Given the description of an element on the screen output the (x, y) to click on. 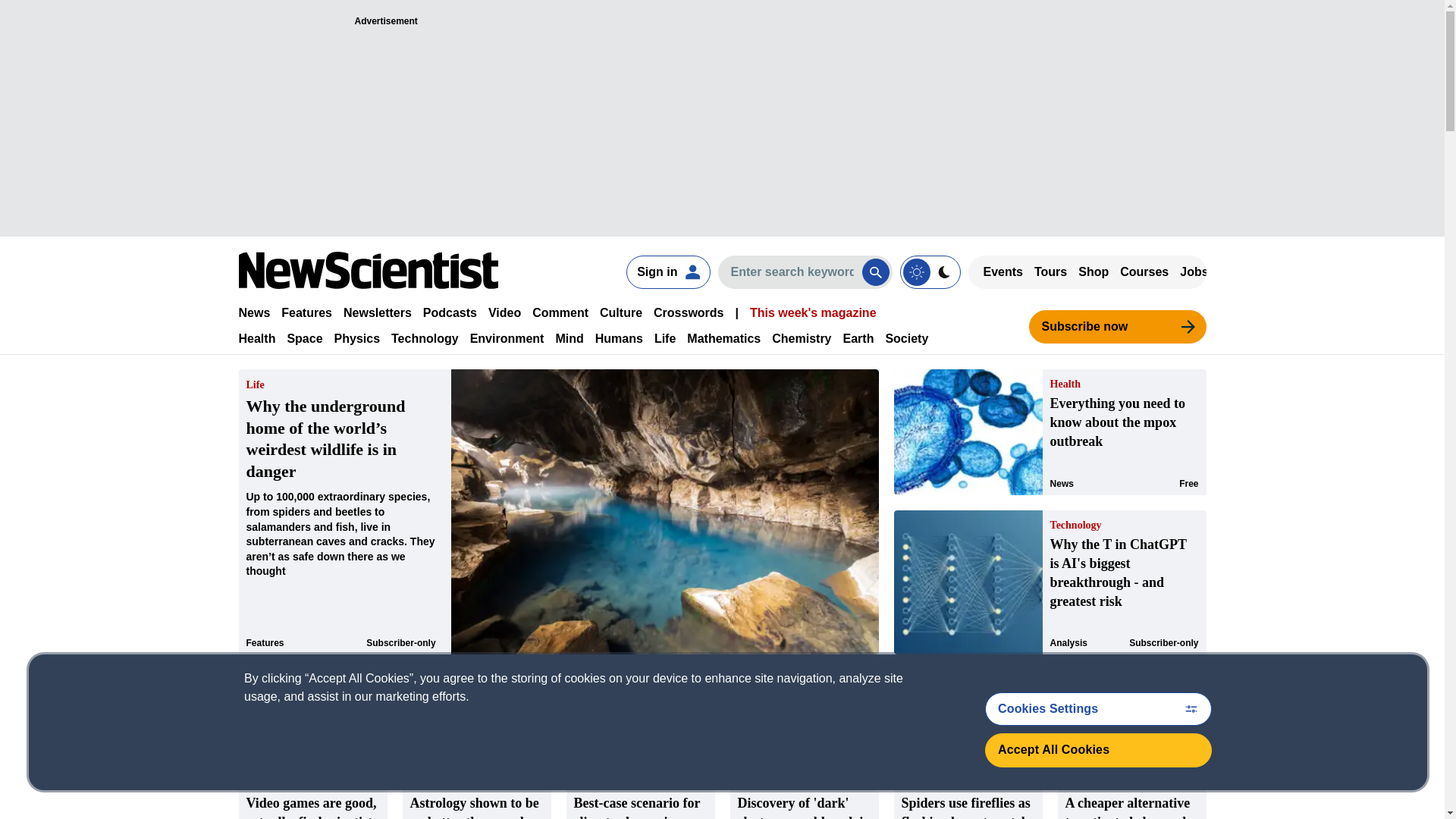
Events (1002, 272)
Courses (1144, 272)
Sign In page link (668, 272)
Subscribe now (1116, 326)
Podcasts (450, 313)
Mind (568, 338)
Jobs (1193, 272)
Features (306, 313)
News (253, 313)
Space (303, 338)
